Given the description of an element on the screen output the (x, y) to click on. 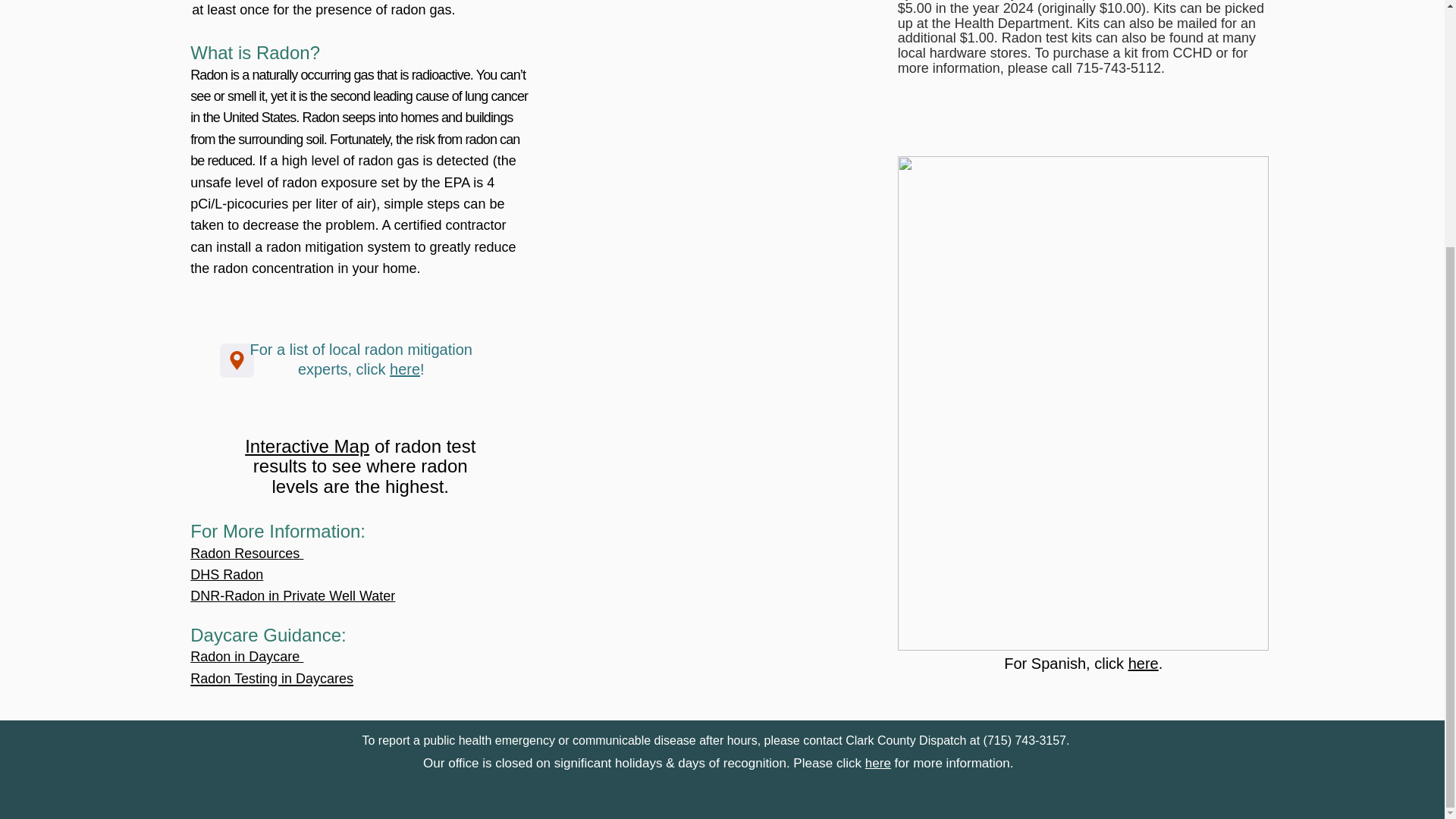
Radon in Daycare  (246, 656)
DNR-Radon in Private Well Water (292, 595)
here (1143, 663)
of (379, 445)
Interactive Map (306, 445)
DHS Radon (226, 574)
Radon Testing in Daycares (271, 676)
here (405, 369)
Radon Resources  (246, 551)
here (877, 762)
